Given the description of an element on the screen output the (x, y) to click on. 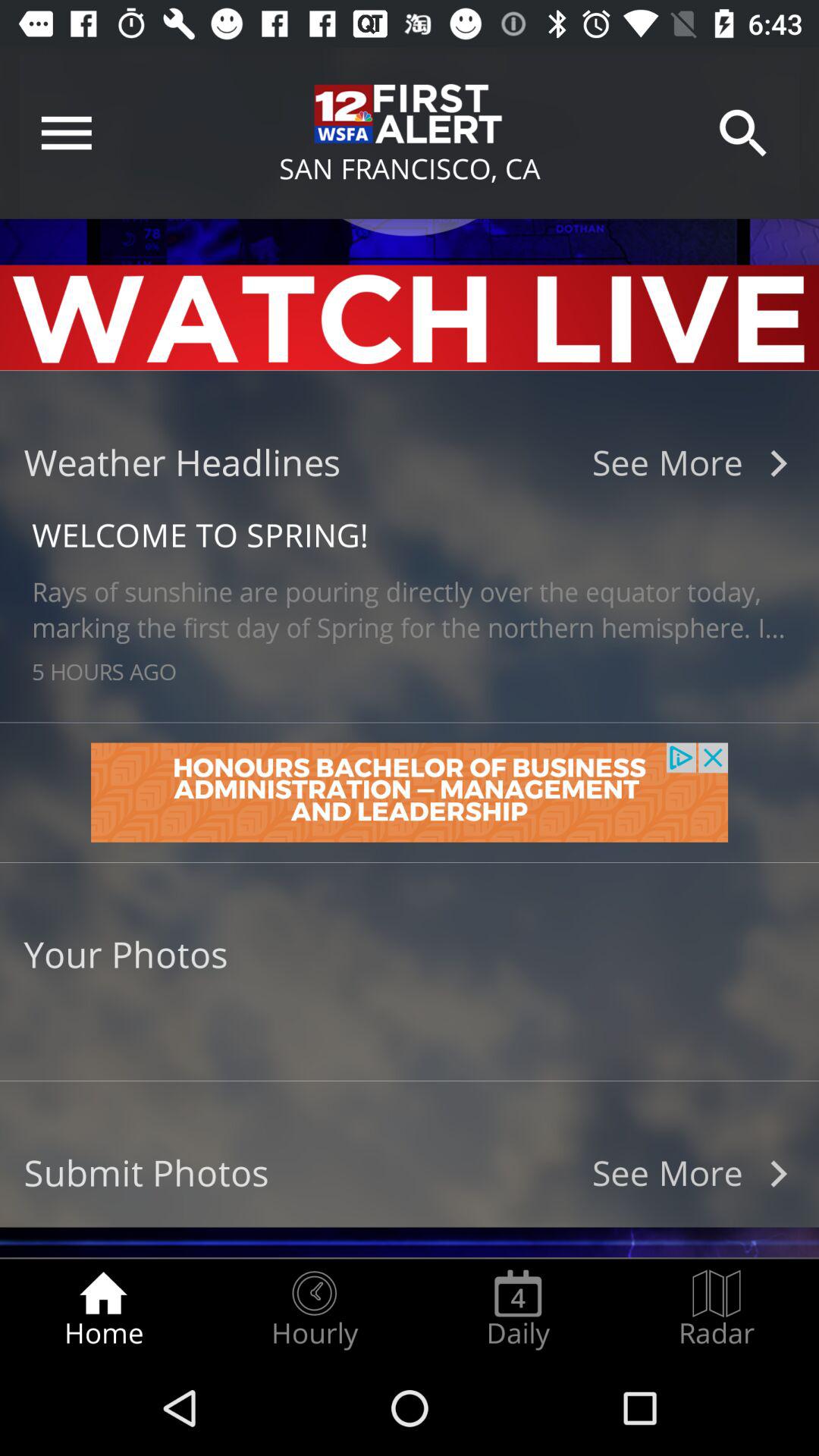
choose the item to the right of the home item (314, 1309)
